Given the description of an element on the screen output the (x, y) to click on. 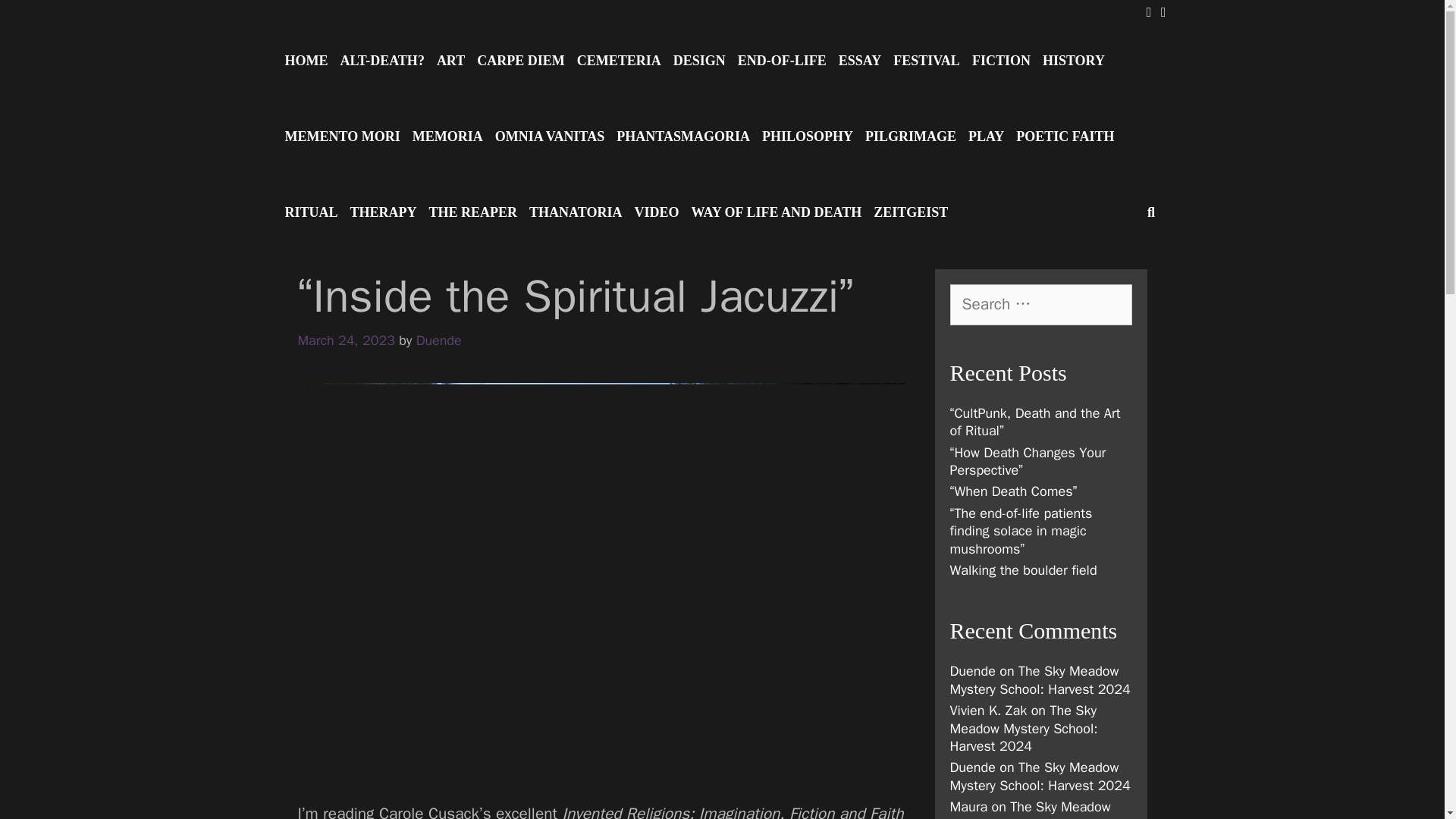
THE REAPER (473, 212)
Search for: (1040, 304)
THERAPY (383, 212)
ZEITGEIST (910, 212)
OMNIA VANITAS (550, 136)
5:30 pm (345, 340)
PHILOSOPHY (807, 136)
WAY OF LIFE AND DEATH (775, 212)
POETIC FAITH (1064, 136)
